Given the description of an element on the screen output the (x, y) to click on. 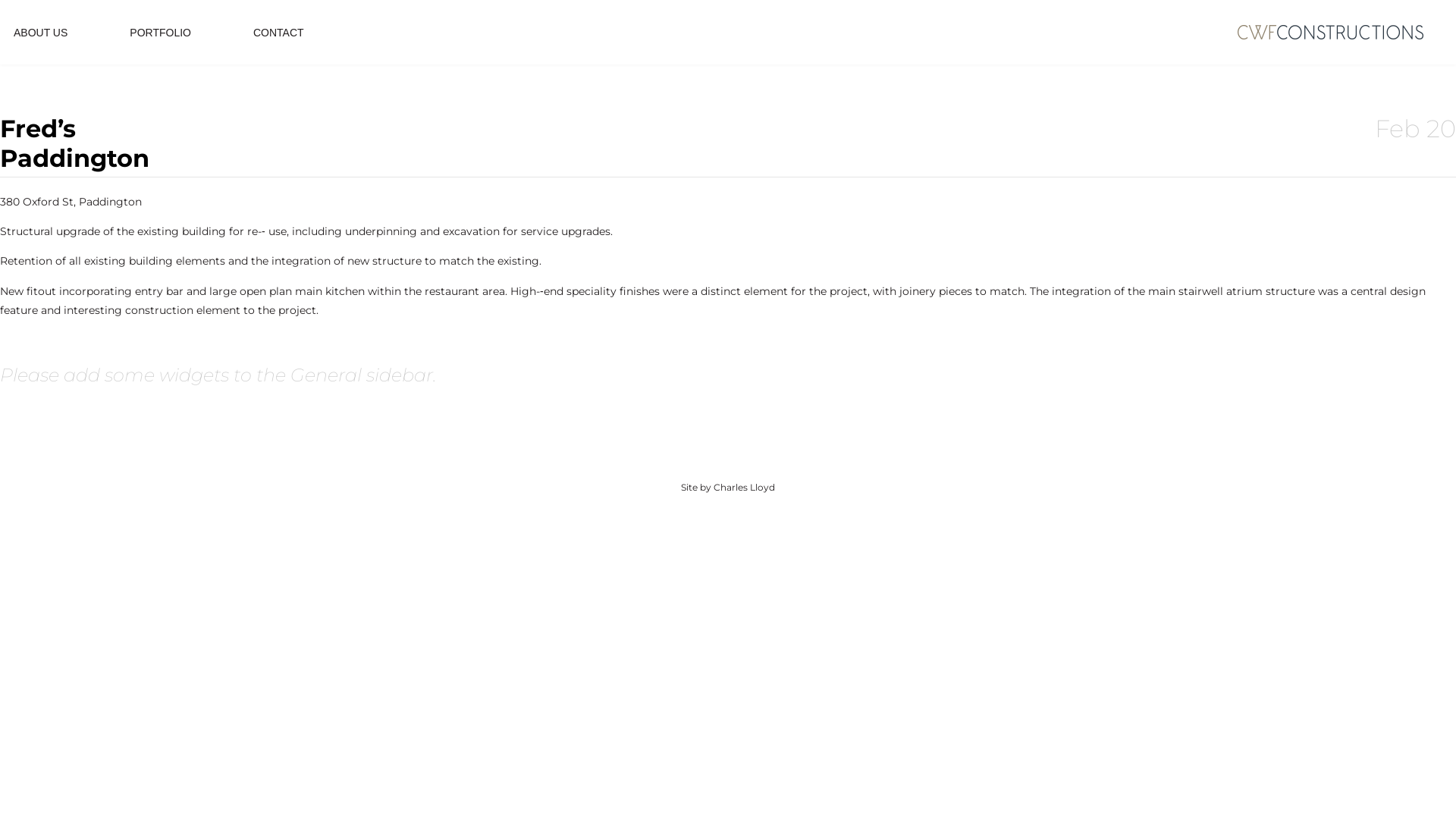
Charles Lloyd Element type: text (744, 486)
PORTFOLIO Element type: text (160, 41)
ABOUT US Element type: text (40, 41)
CONTACT Element type: text (278, 41)
